Given the description of an element on the screen output the (x, y) to click on. 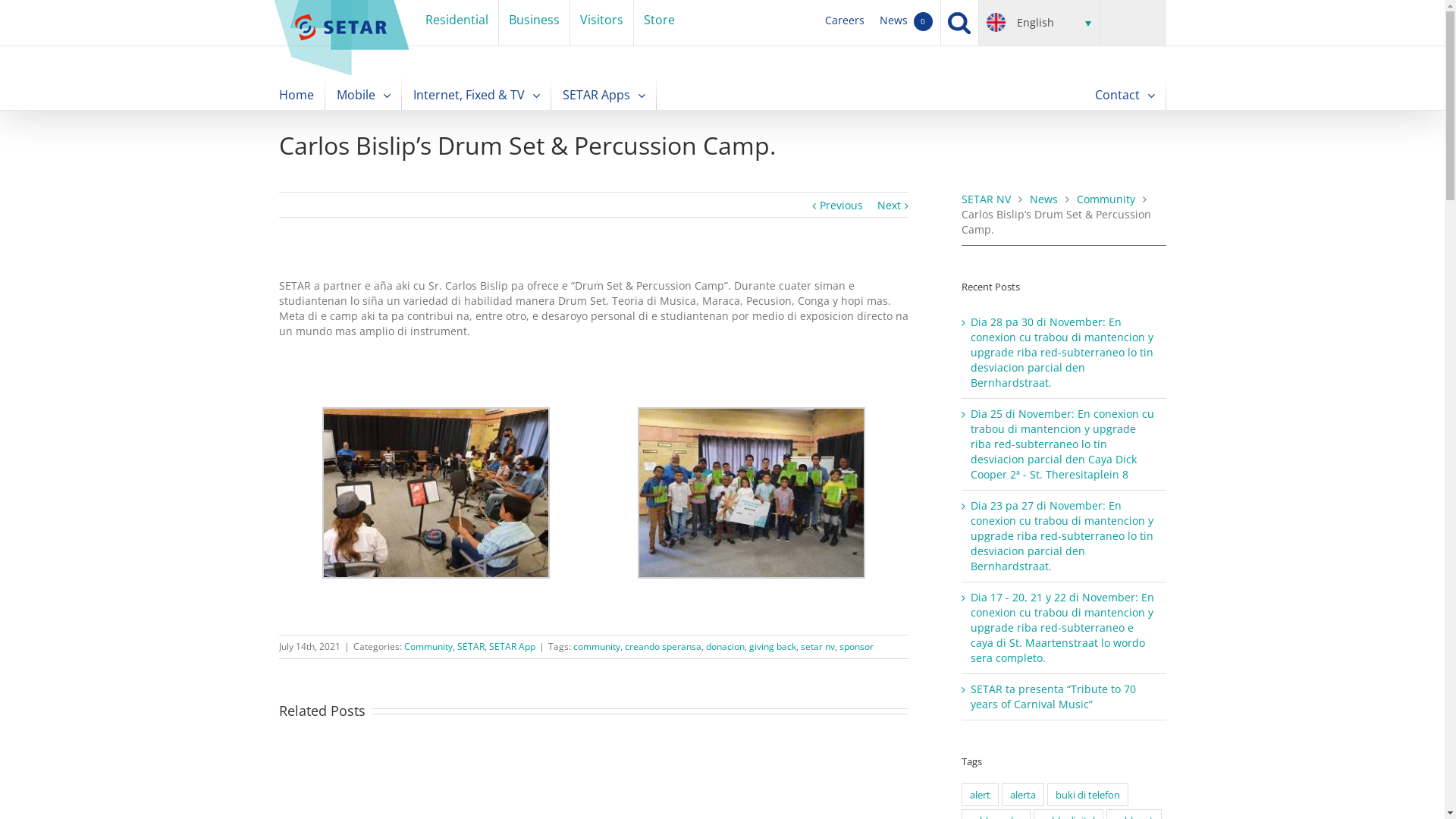
SETAR App Element type: text (511, 646)
SETAR NV Element type: text (985, 198)
News 0 Element type: text (906, 22)
SETAR Element type: text (469, 646)
community Element type: text (596, 646)
buki di telefon Element type: text (1087, 794)
Residential Element type: text (456, 22)
Mobile Element type: text (363, 93)
SETAR Apps Element type: text (603, 93)
alert Element type: text (979, 794)
Business Element type: text (533, 22)
Store Element type: text (658, 22)
giving back Element type: text (772, 646)
English Element type: text (1038, 22)
Community Element type: text (427, 646)
Contact Element type: text (1124, 93)
setar nv Element type: text (817, 646)
Previous Element type: text (840, 205)
creando speransa Element type: text (662, 646)
donacion Element type: text (724, 646)
alerta Element type: text (1022, 794)
Internet, Fixed & TV Element type: text (475, 93)
News Element type: text (1043, 198)
Visitors Element type: text (601, 22)
Home Element type: text (296, 93)
Careers Element type: text (844, 22)
Community Element type: text (1105, 198)
sponsor Element type: text (855, 646)
Next Element type: text (888, 205)
